Given the description of an element on the screen output the (x, y) to click on. 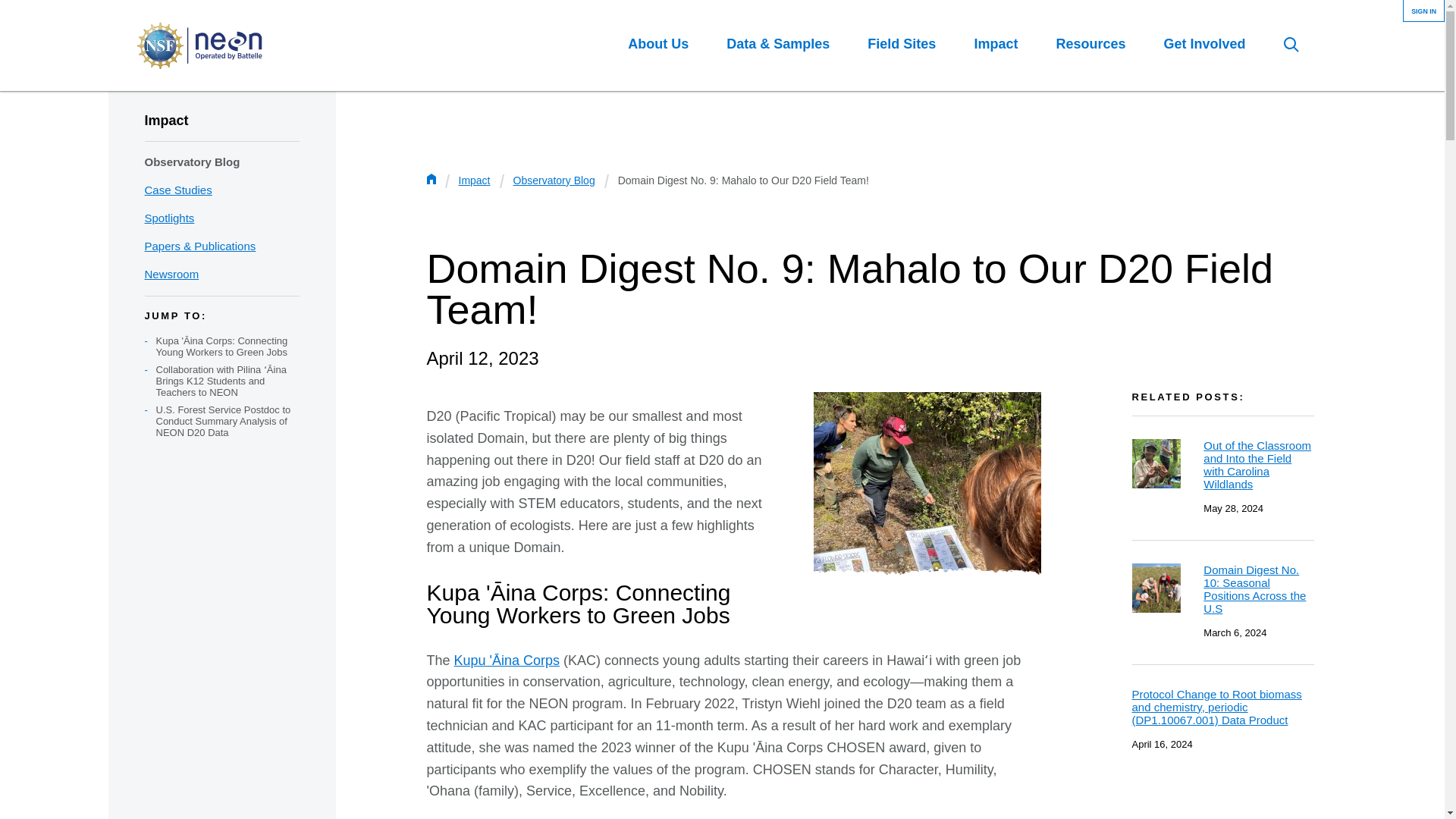
Sign In (1423, 11)
About Us (657, 43)
Home (198, 45)
About Us (657, 43)
Impact (995, 43)
Search (1290, 43)
Sign In (1423, 11)
Sign In (1423, 11)
Impact (165, 120)
expanded (139, 4)
